Given the description of an element on the screen output the (x, y) to click on. 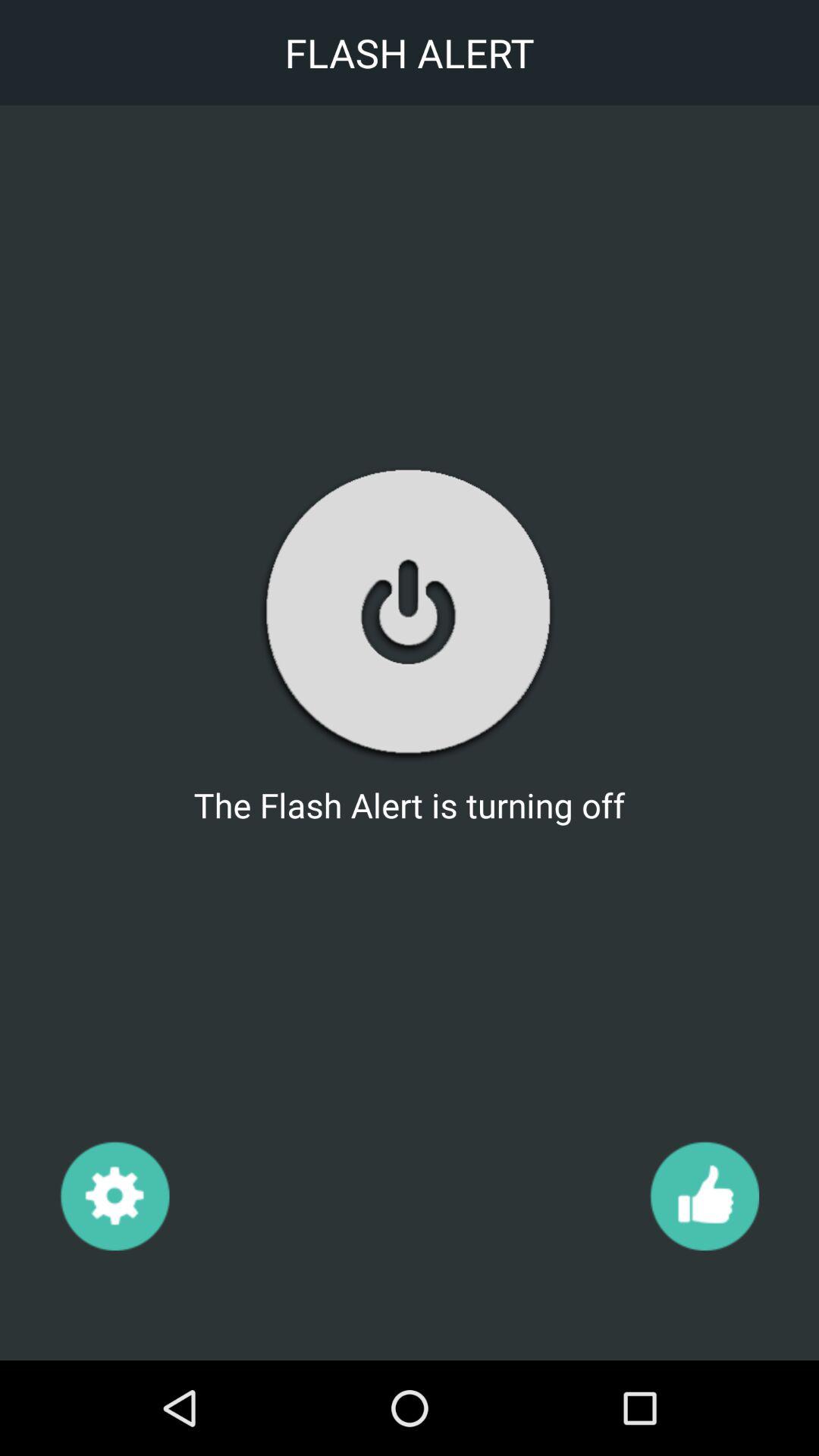
click item below flash alert app (704, 1195)
